Given the description of an element on the screen output the (x, y) to click on. 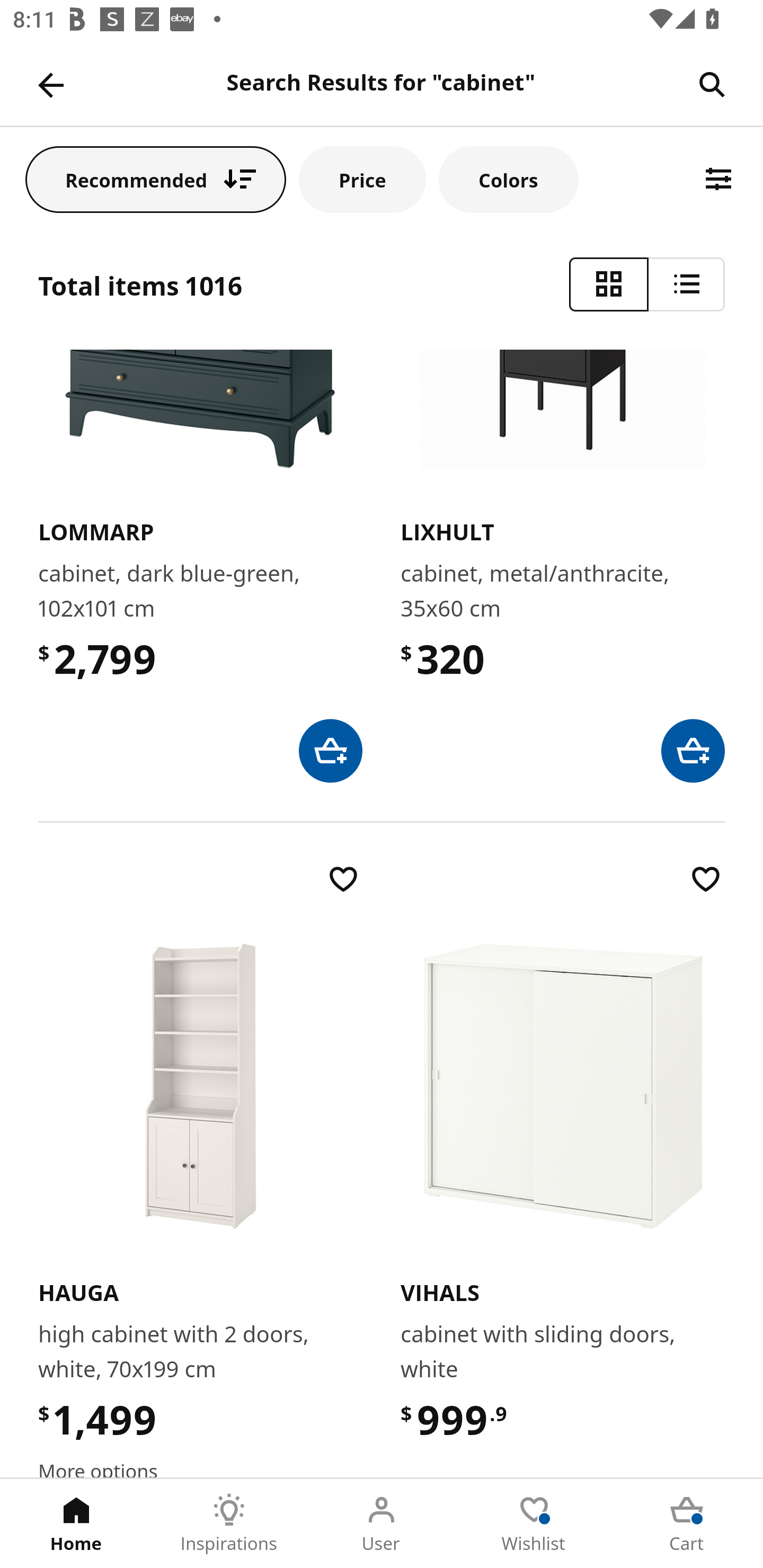
Recommended (155, 179)
Price (362, 179)
Colors (508, 179)
Home
Tab 1 of 5 (76, 1522)
Inspirations
Tab 2 of 5 (228, 1522)
User
Tab 3 of 5 (381, 1522)
Wishlist
Tab 4 of 5 (533, 1522)
Cart
Tab 5 of 5 (686, 1522)
